Given the description of an element on the screen output the (x, y) to click on. 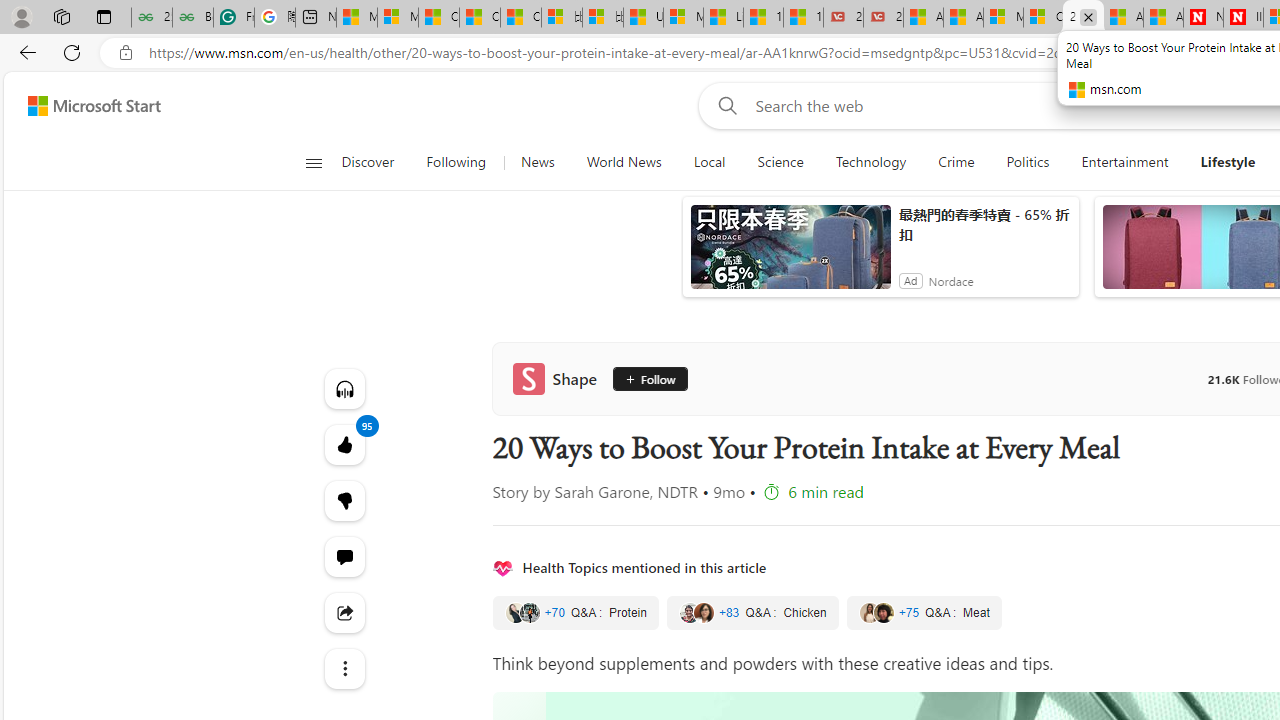
See more (343, 668)
anim-content (789, 255)
Skip to content (86, 105)
Lifestyle (1228, 162)
Protein (575, 613)
21 Movies That Outdid the Books They Were Based On (883, 17)
Politics (1027, 162)
15 Ways Modern Life Contradicts the Teachings of Jesus (803, 17)
Web search (724, 105)
Chicken (751, 613)
